Given the description of an element on the screen output the (x, y) to click on. 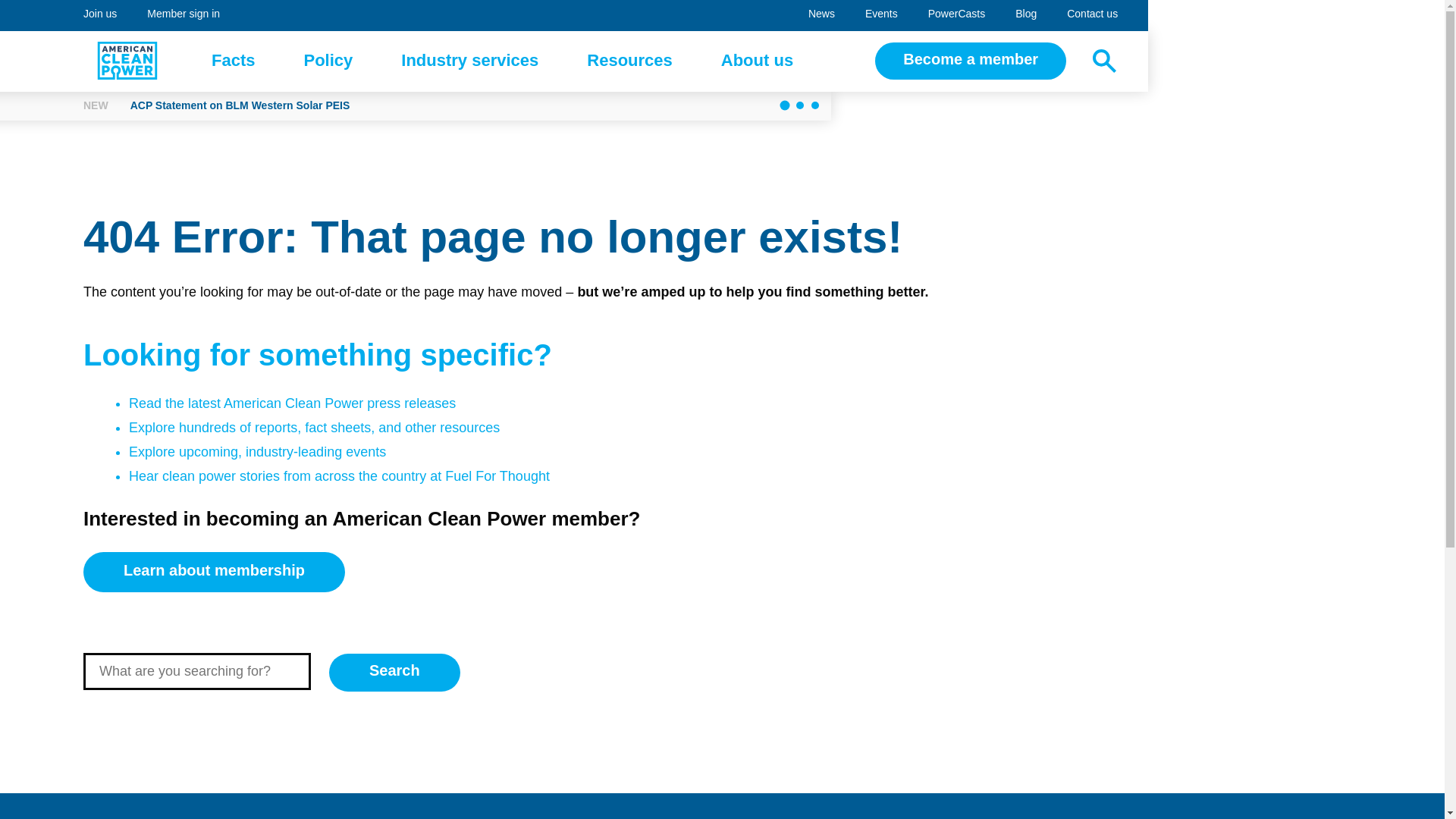
Join us (100, 15)
Events (881, 15)
Policy (328, 60)
Resources (469, 60)
PowerCasts (629, 60)
Blog (956, 15)
News (233, 60)
ACP (1025, 15)
